Given the description of an element on the screen output the (x, y) to click on. 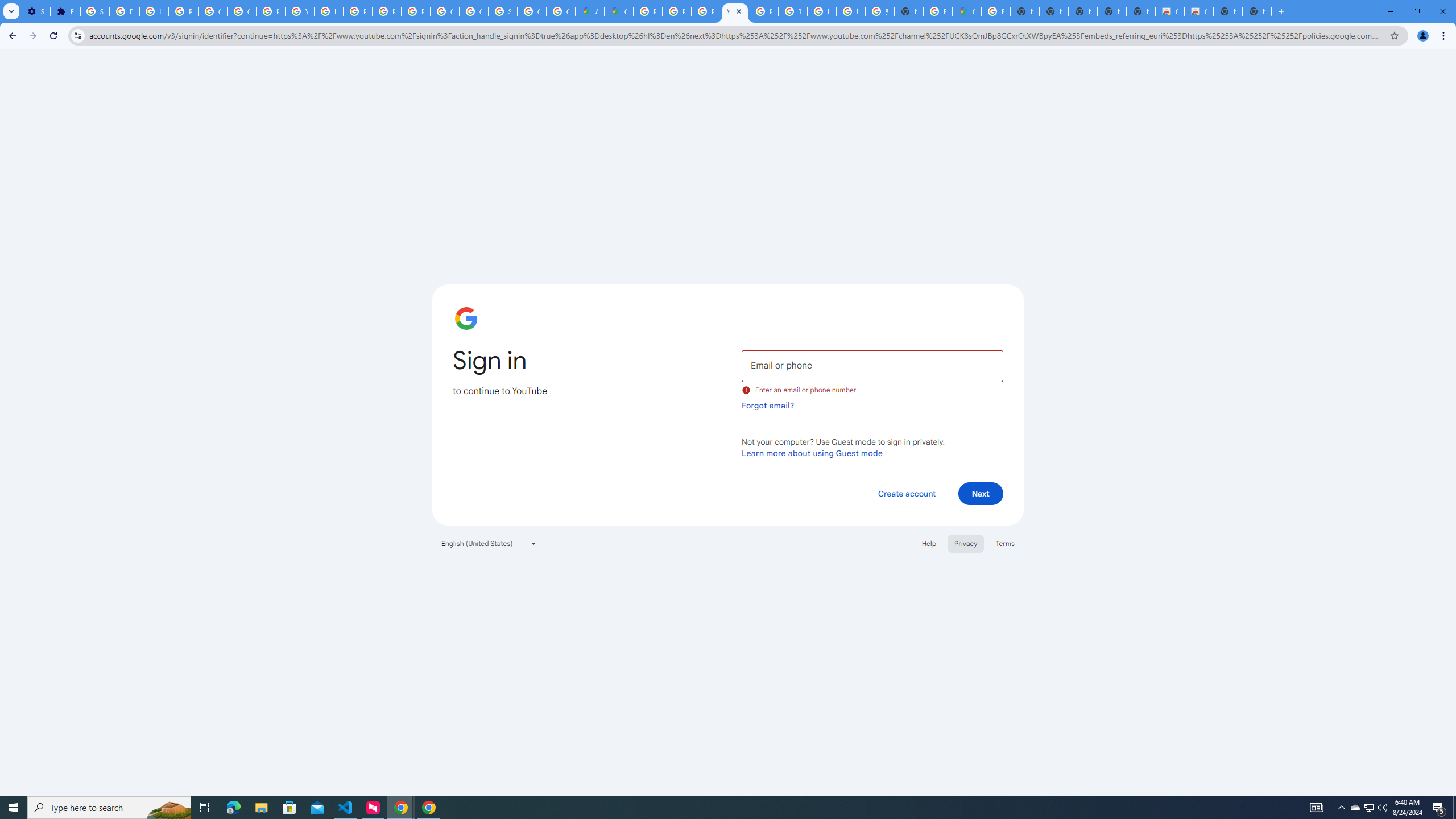
Privacy Help Center - Policies Help (705, 11)
Sign in - Google Accounts (95, 11)
